Given the description of an element on the screen output the (x, y) to click on. 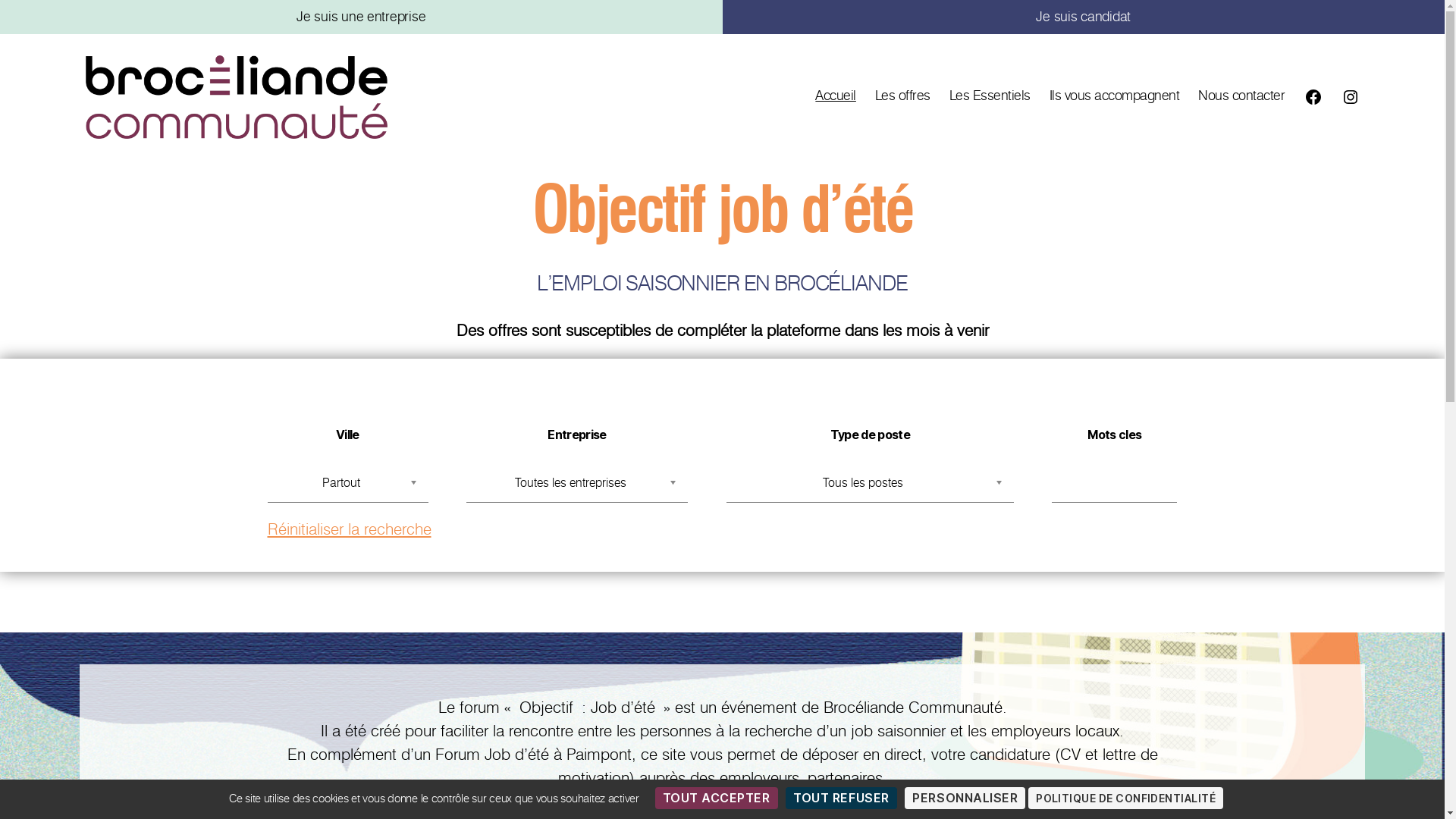
Les offres Element type: text (902, 95)
Faire une recherche par mot clef Element type: hover (1113, 485)
Nous contacter Element type: text (1241, 95)
PERSONNALISER Element type: text (964, 798)
Partout Element type: text (348, 484)
Accueil Element type: text (835, 95)
Je suis candidat Element type: text (1082, 16)
Tous les postes Element type: text (869, 484)
Je suis une entreprise Element type: text (360, 16)
Les Essentiels Element type: text (989, 95)
TOUT ACCEPTER Element type: text (716, 798)
Toutes les entreprises Element type: text (576, 484)
Ils vous accompagnent Element type: text (1114, 95)
TOUT REFUSER Element type: text (840, 798)
